Given the description of an element on the screen output the (x, y) to click on. 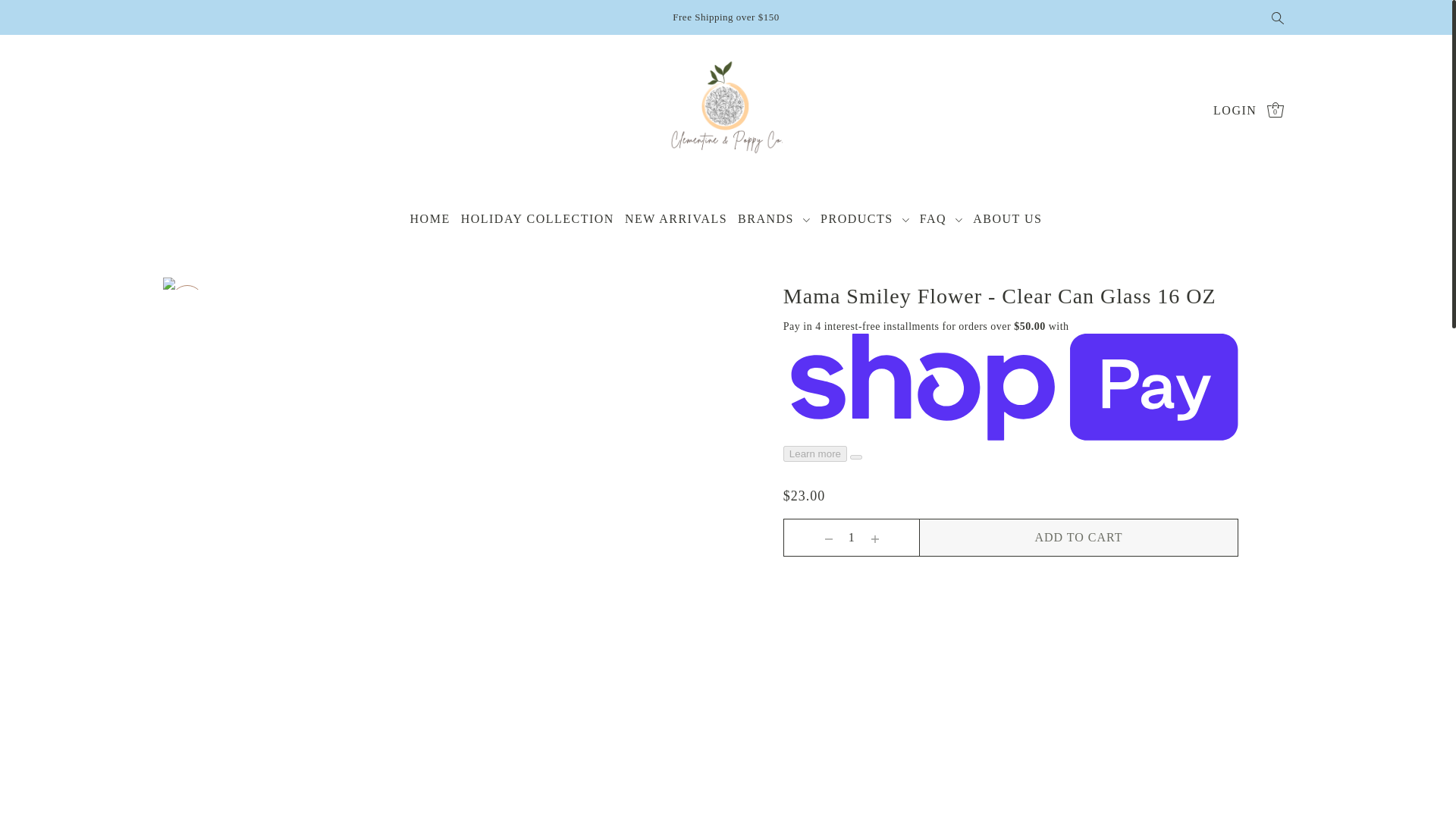
click to zoom-in (186, 301)
